Given the description of an element on the screen output the (x, y) to click on. 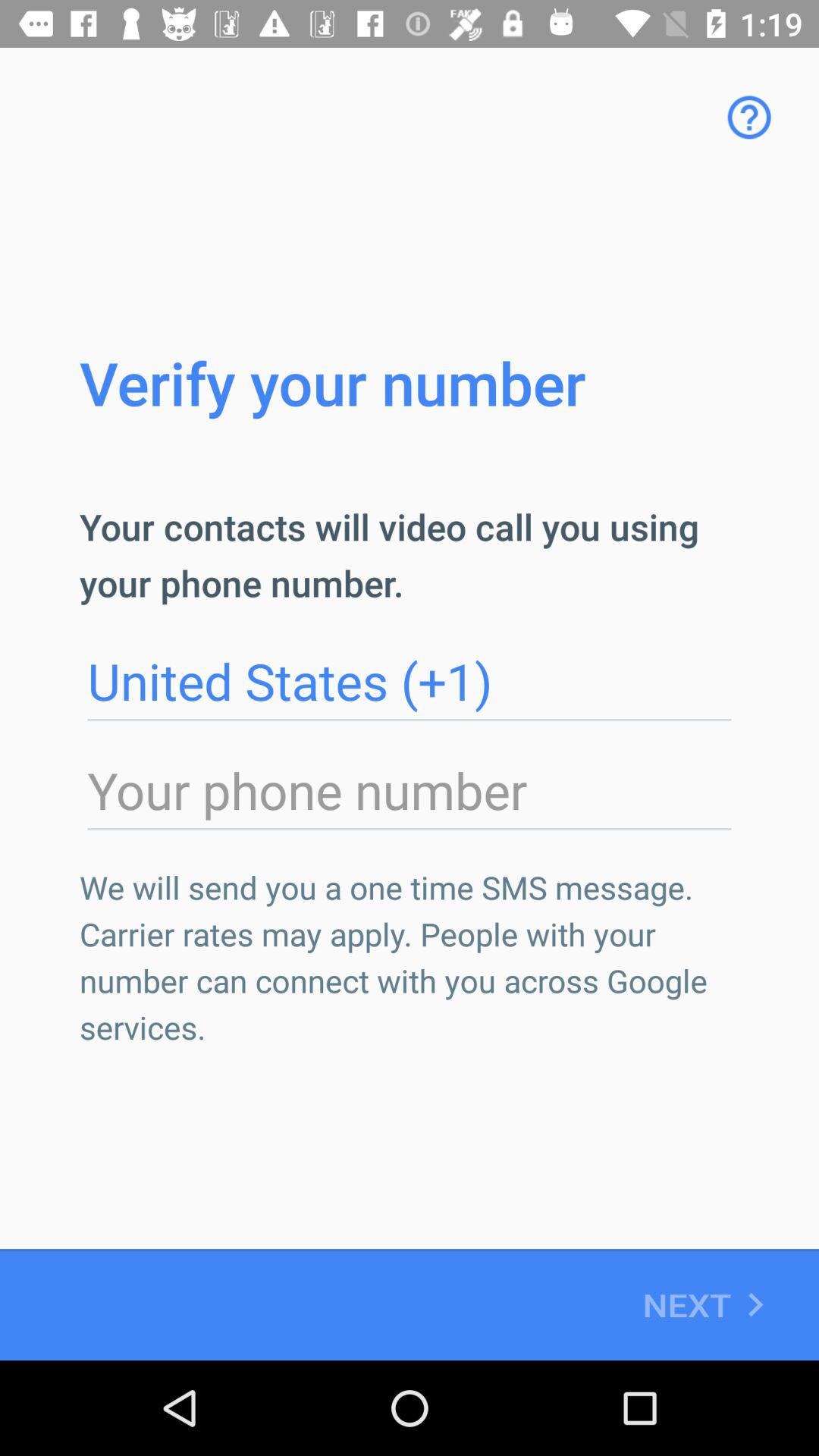
enter or edit phone number (409, 790)
